Given the description of an element on the screen output the (x, y) to click on. 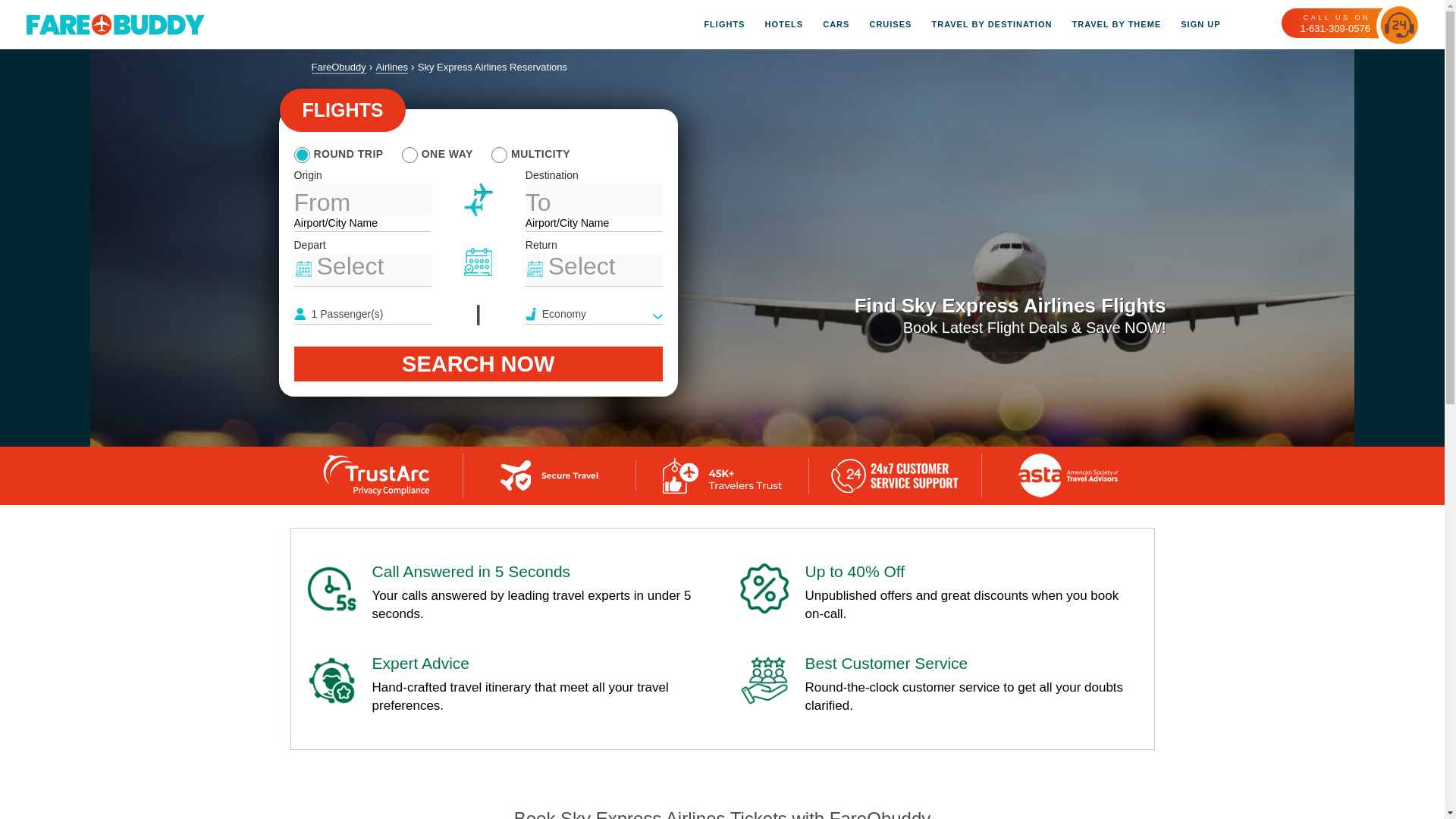
1-631-309-0576 (1335, 28)
TRAVEL BY THEME (1105, 24)
FareObuddy (338, 67)
SIGN UP (1190, 24)
FLIGHTS (723, 24)
FLIGHTS (342, 109)
Airlines (391, 67)
HOTELS (773, 24)
USD (1250, 23)
ROUND TRIP (339, 153)
CRUISES (879, 24)
TRAVEL BY DESTINATION (981, 24)
CARS (825, 24)
